Given the description of an element on the screen output the (x, y) to click on. 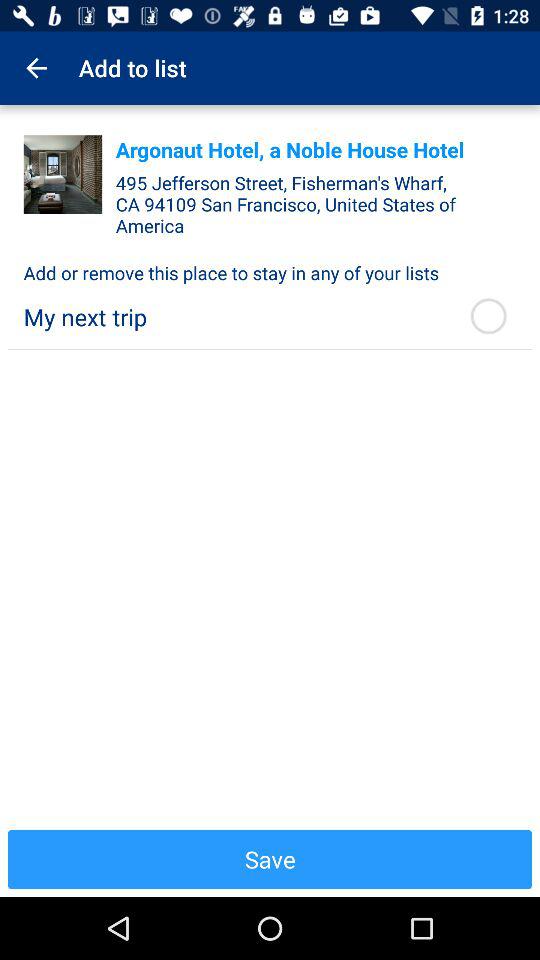
select save icon (269, 859)
